Given the description of an element on the screen output the (x, y) to click on. 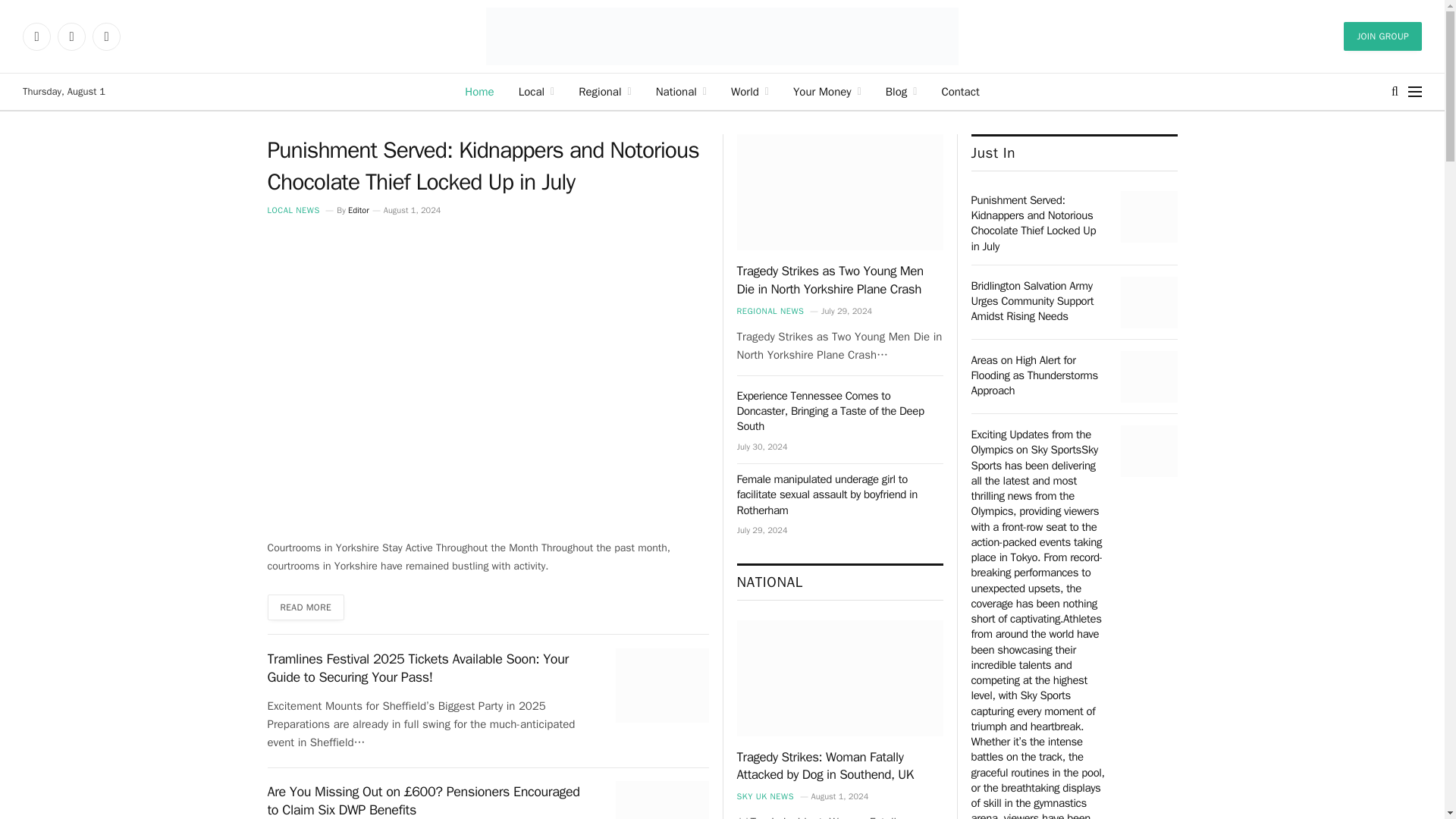
Local (536, 91)
TikTok (106, 36)
The South Yorkshire Scoop (722, 36)
JOIN GROUP (1382, 36)
Instagram (71, 36)
Facebook (36, 36)
Home (478, 91)
Regional (604, 91)
National (681, 91)
